Given the description of an element on the screen output the (x, y) to click on. 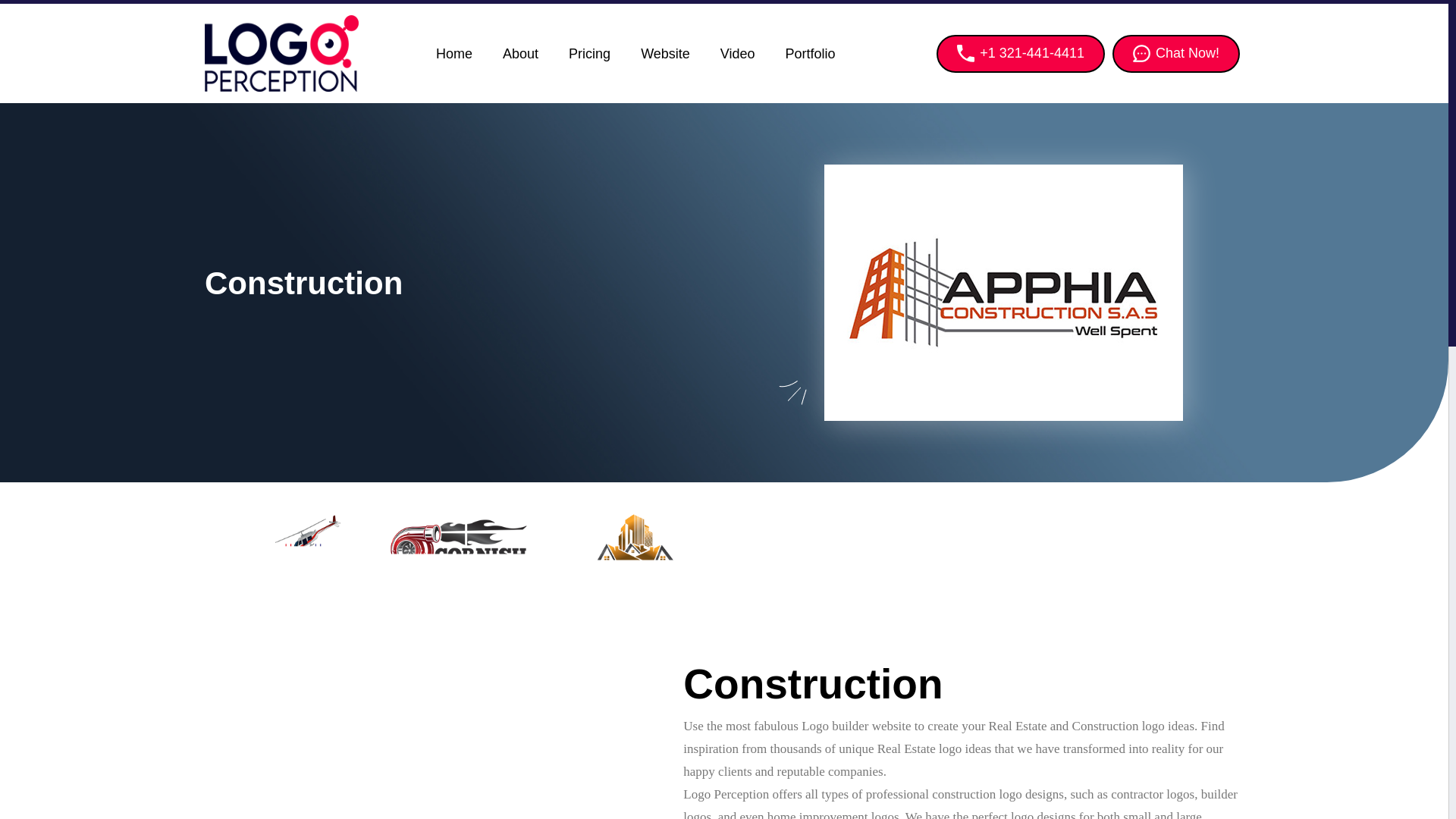
Chat Now! (1176, 53)
Pricing (589, 53)
About (520, 53)
Website (665, 53)
Home (453, 53)
Portfolio (810, 53)
Video (737, 53)
